Given the description of an element on the screen output the (x, y) to click on. 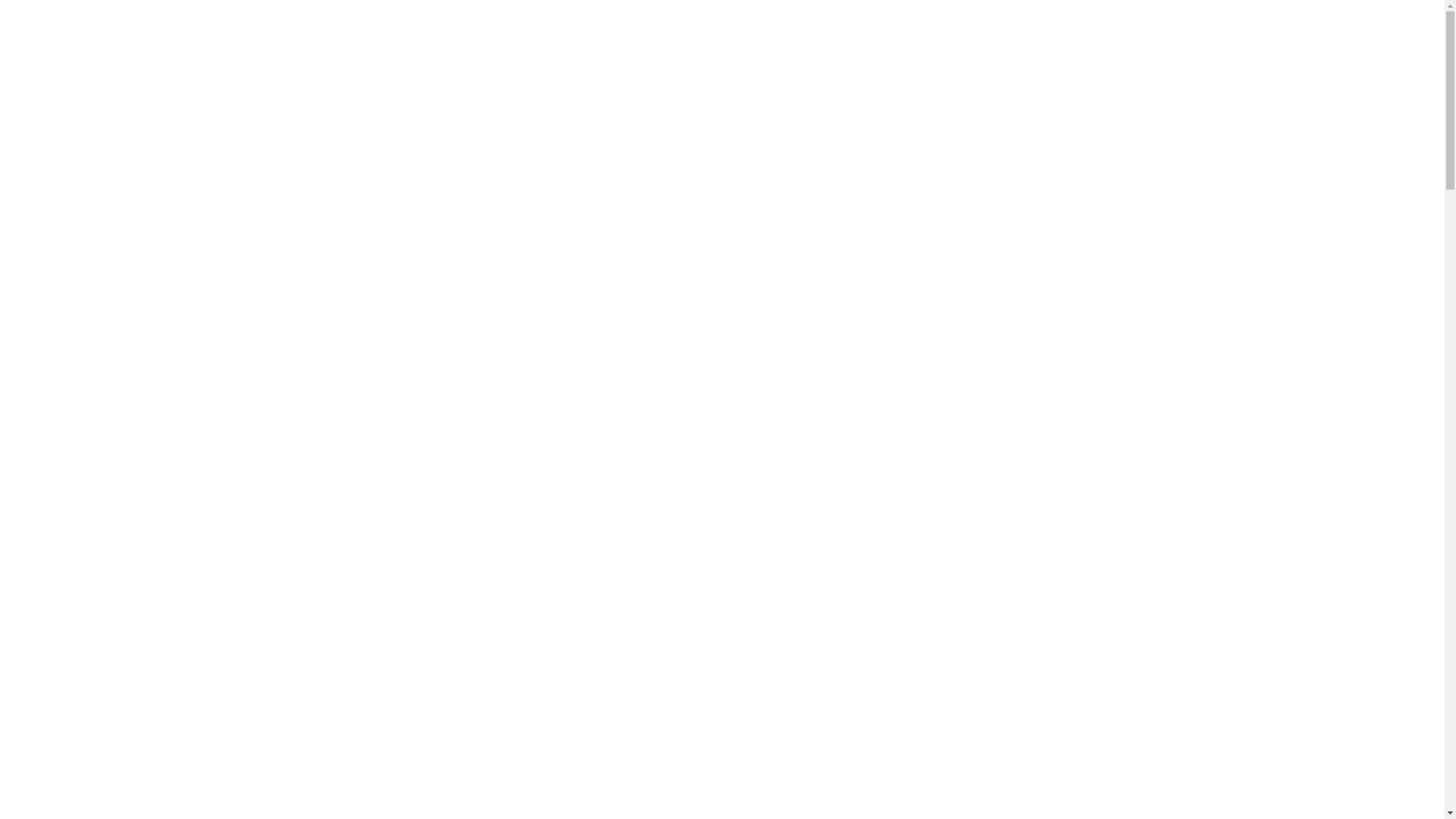
Shielding Element type: text (120, 213)
Acoustic Solutions Element type: text (112, 661)
Installation Element type: text (124, 593)
EMF Shielding Element type: text (103, 566)
Design and Consultancy Element type: text (156, 498)
RF Shielded Shipping Container Element type: text (145, 322)
RF Shielding Element type: text (98, 308)
RF Doors Element type: text (120, 226)
Principals Element type: text (60, 689)
Home Element type: text (50, 443)
MRI Accessories and Safety Element type: text (166, 552)
Design and Consultancy Element type: text (156, 199)
Contact Element type: text (55, 417)
Interior Finishes Element type: text (136, 539)
Installation Element type: text (124, 294)
EMF Shielding Element type: text (103, 267)
RF Filters Element type: text (90, 675)
Consulting Services Element type: text (145, 281)
Linkedin page opens in new window Element type: hover (12, 104)
Acoustic Solutions Element type: text (112, 363)
REQUEST A QUOTE Element type: text (323, 118)
EEG/EMG/ECG/MEG Shielding Element type: text (147, 335)
MRI Solutions Element type: text (102, 484)
RF Filters Element type: text (90, 376)
Contact Element type: text (55, 716)
Projects Element type: text (55, 404)
MRI Solutions Element type: text (102, 185)
Electron Microscope Solutions Element type: text (141, 349)
Home Element type: text (50, 144)
Electron Microscope Solutions Element type: text (141, 648)
Products Element type: text (57, 470)
About Element type: text (51, 158)
Interior Finishes Element type: text (136, 240)
Consulting Services Element type: text (145, 580)
RF Doors Element type: text (120, 525)
RF Shielding Element type: text (98, 607)
RF Shielded Shipping Container Element type: text (145, 621)
Principals Element type: text (60, 390)
EEG/EMG/ECG/MEG Shielding Element type: text (147, 634)
Projects Element type: text (55, 702)
About Element type: text (51, 457)
Products Element type: text (57, 172)
MRI Accessories and Safety Element type: text (166, 253)
Shielding Element type: text (120, 511)
